Given the description of an element on the screen output the (x, y) to click on. 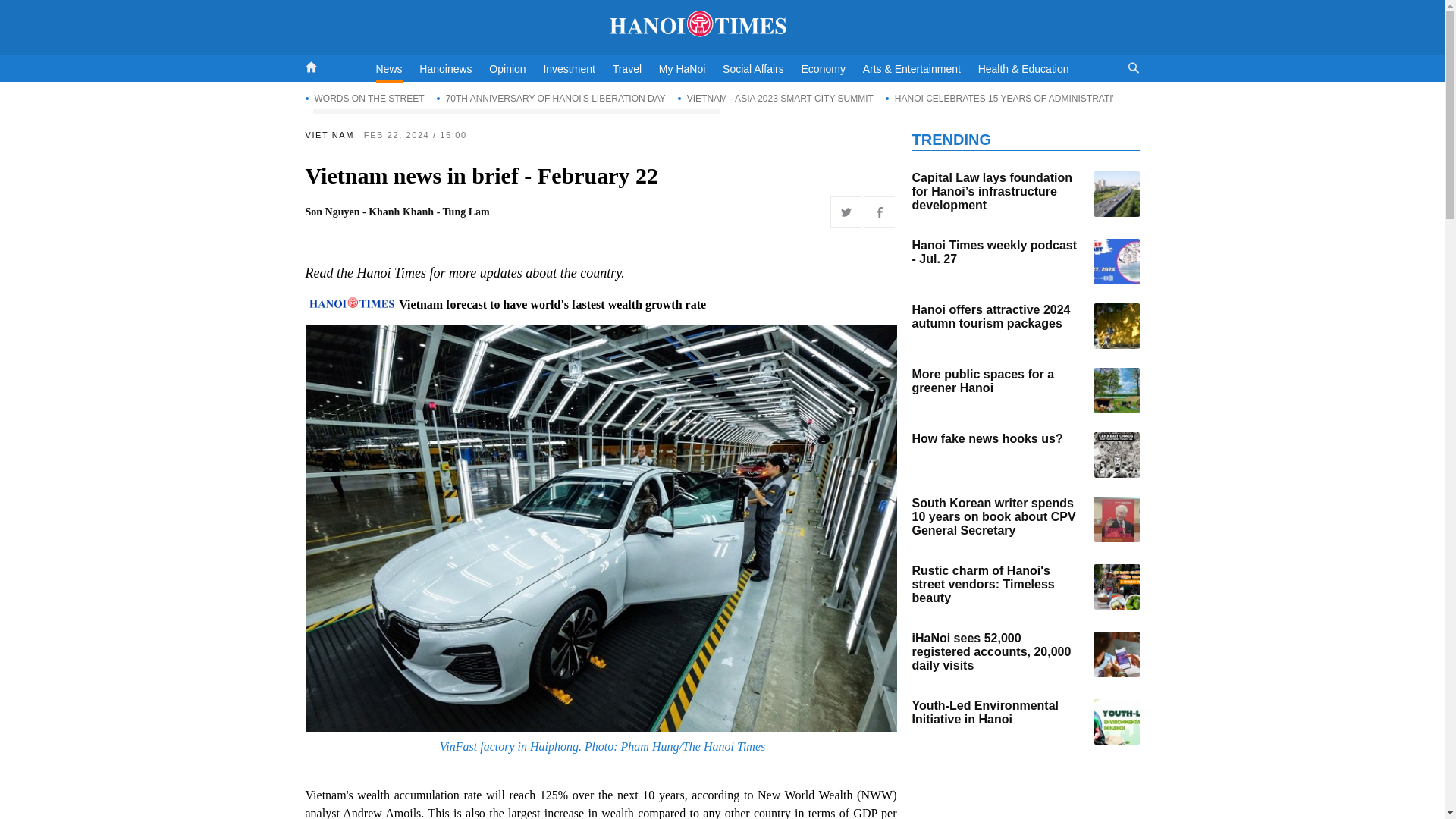
Social Affairs (753, 69)
My HaNoi (681, 69)
 iHaNoi sees 52,000 registered accounts, 20,000 daily visits (1115, 654)
Opinion (507, 69)
70th anniversary of Hanoi's Liberation Day (550, 98)
Rustic charm of Hanoi's street vendors: Timeless beauty (1115, 586)
WORDS ON THE STREET (363, 98)
Investment (568, 69)
News (389, 70)
Hanoi Times (721, 24)
Vietnam - Asia 2023 Smart City Summit  (775, 98)
Youth-Led Environmental Initiative in Hanoi (1115, 721)
More public spaces for a greener Hanoi (1115, 390)
